Given the description of an element on the screen output the (x, y) to click on. 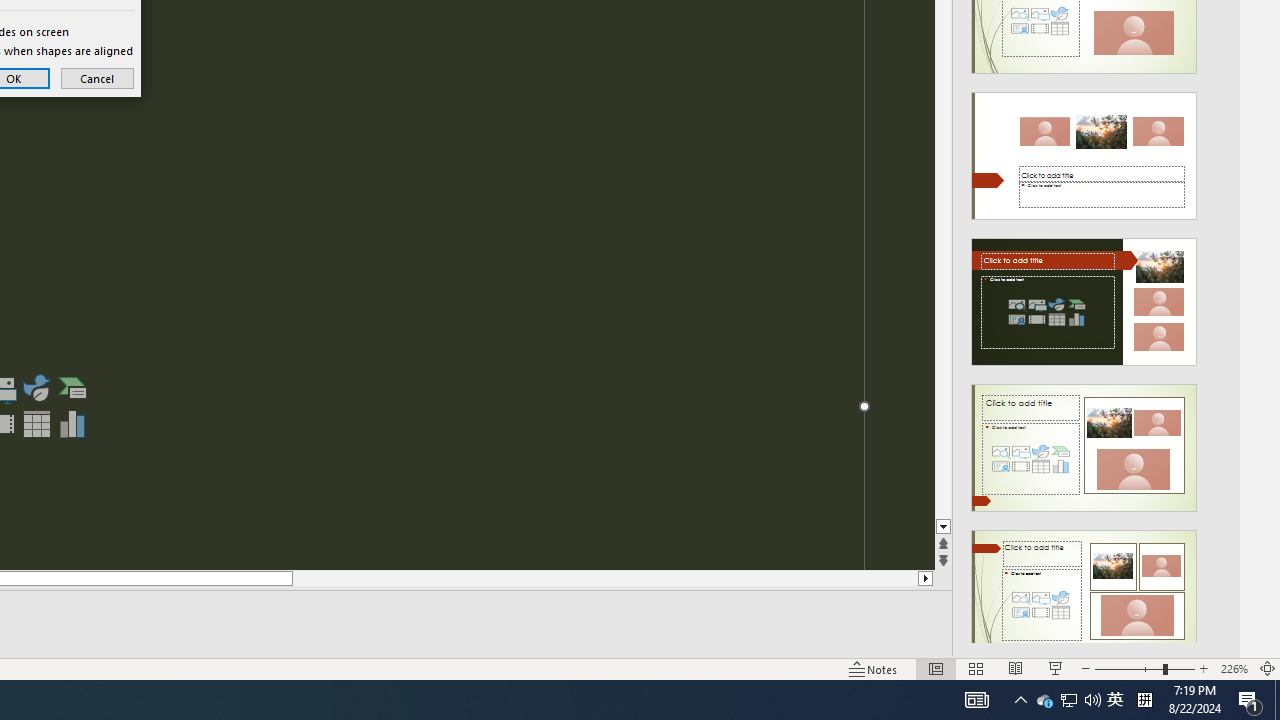
Insert Chart (73, 423)
Action Center, 1 new notification (1250, 699)
Insert a SmartArt Graphic (73, 387)
Design Idea (1083, 587)
